Given the description of an element on the screen output the (x, y) to click on. 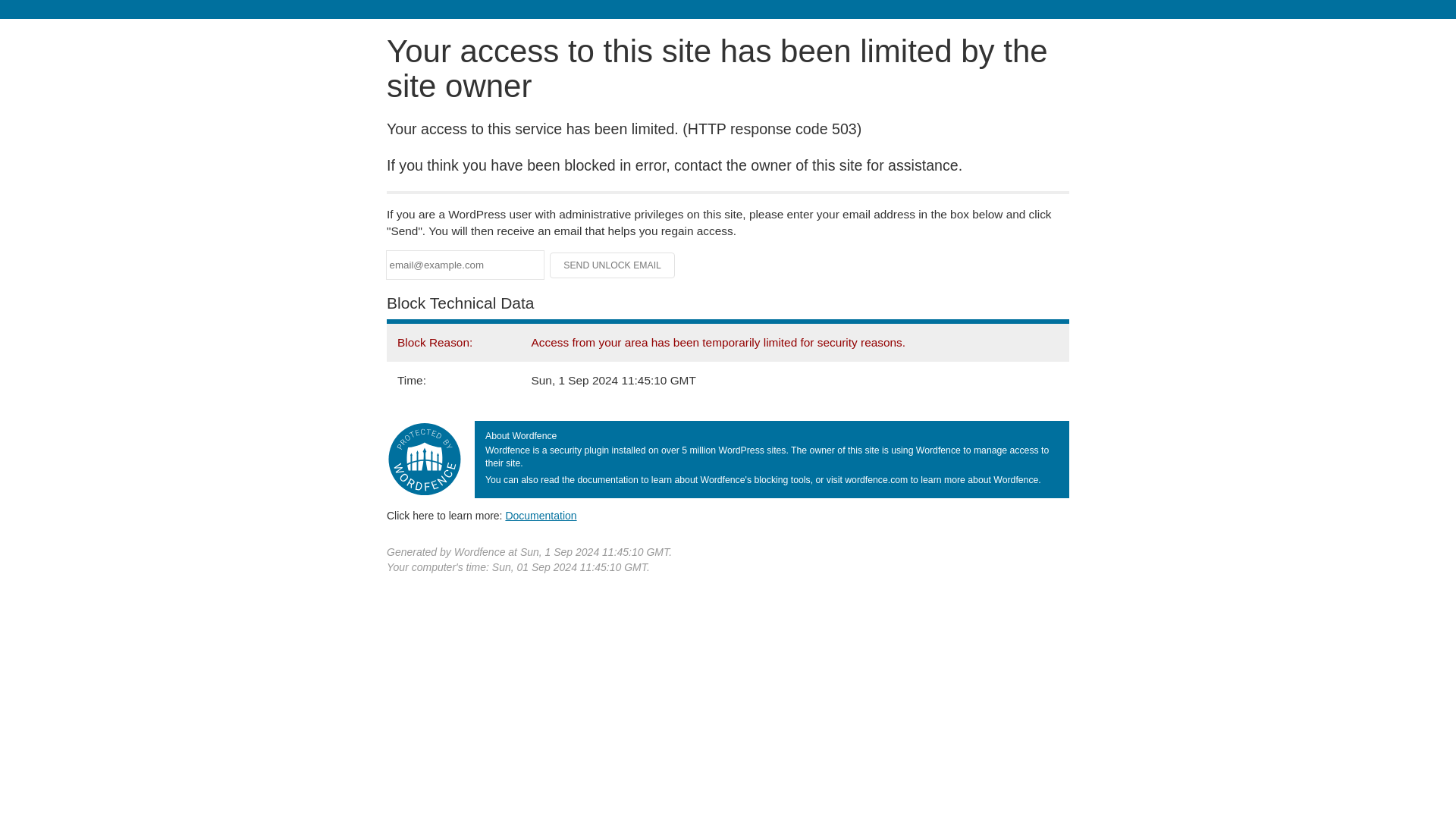
Send Unlock Email (612, 265)
Documentation (540, 515)
Send Unlock Email (612, 265)
